Given the description of an element on the screen output the (x, y) to click on. 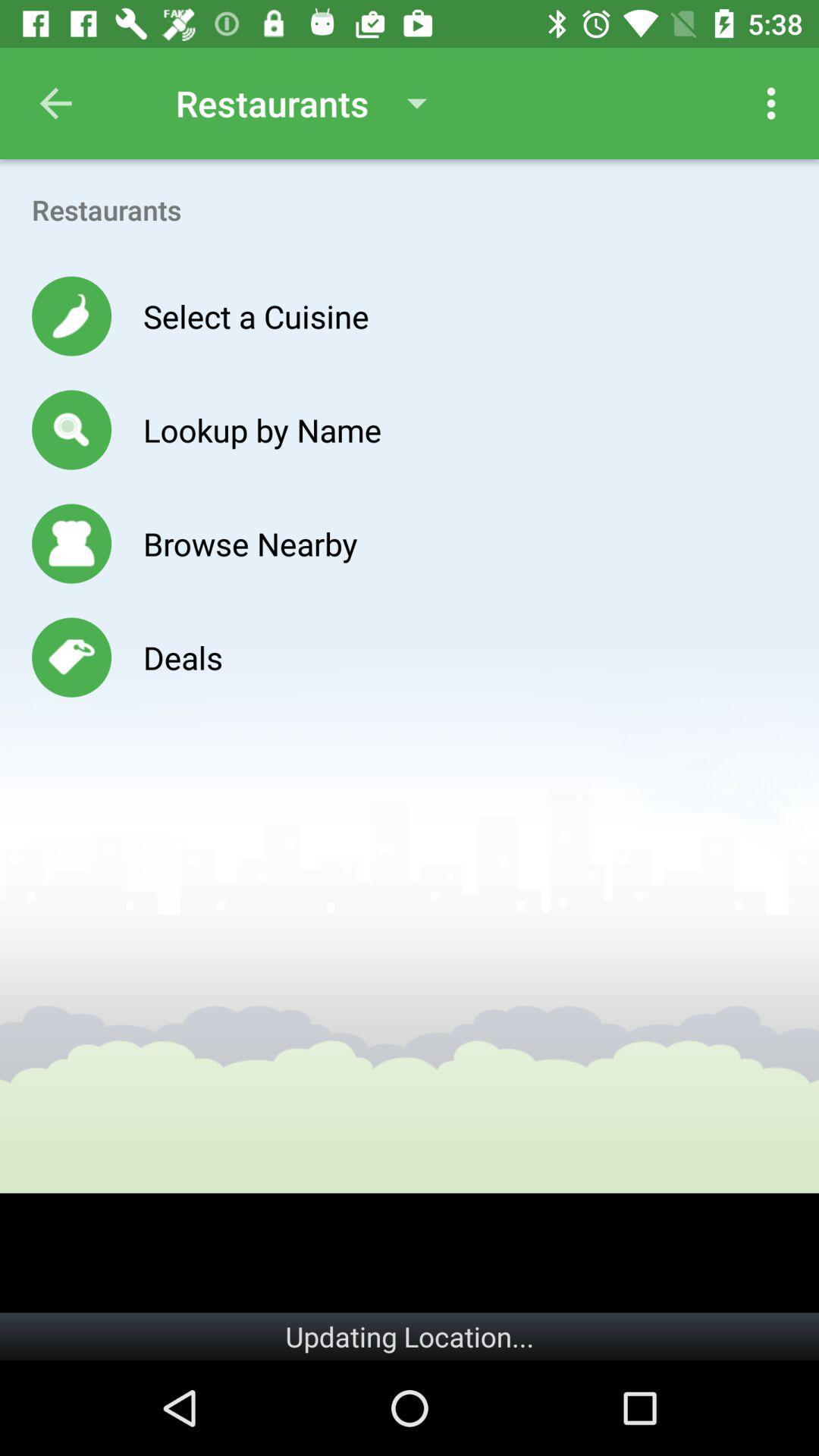
scroll until browse nearby (250, 543)
